Given the description of an element on the screen output the (x, y) to click on. 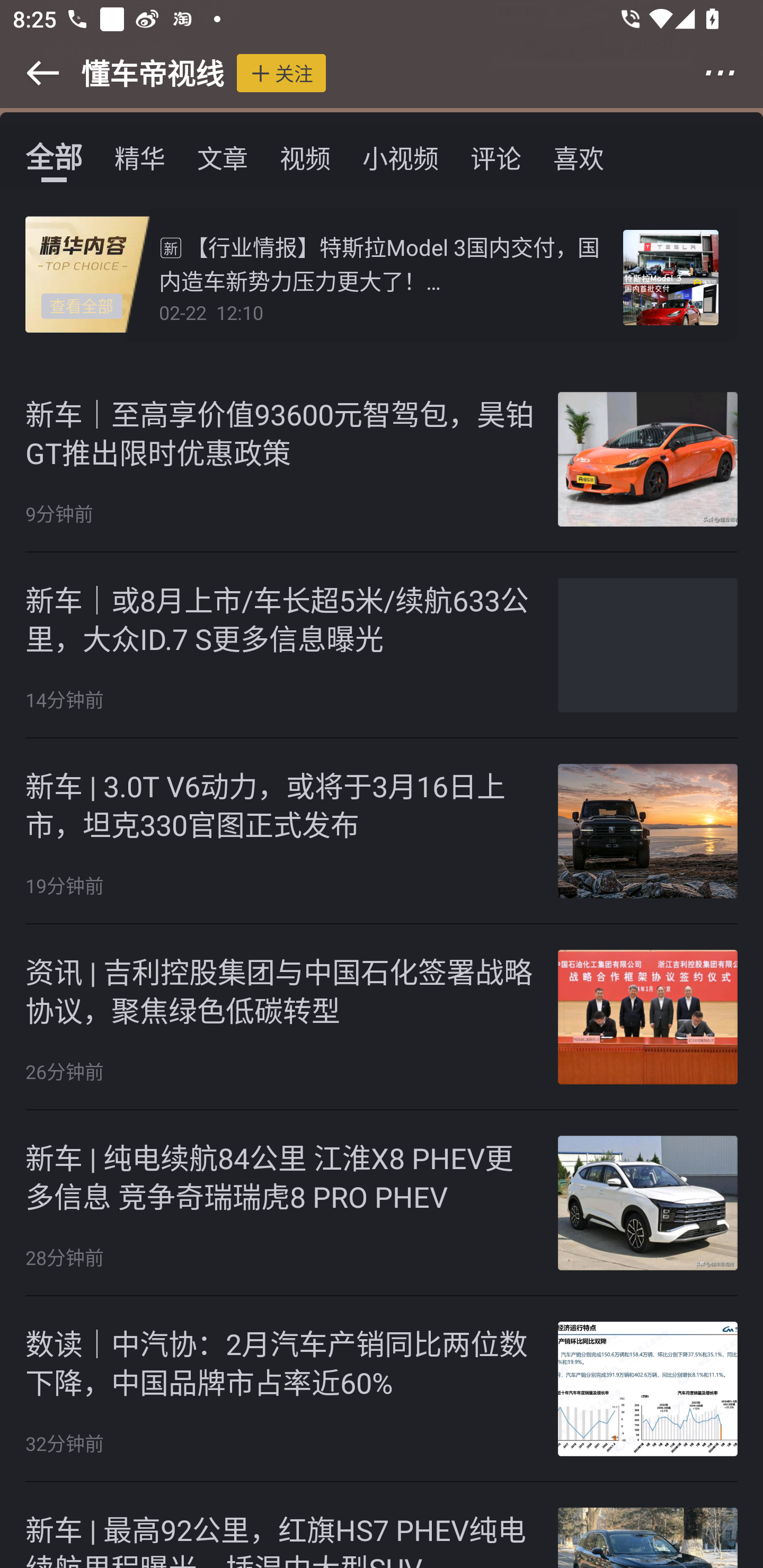
 (30, 72)
 (732, 72)
 关注 (280, 72)
全部 (53, 156)
精华 (139, 156)
文章 (221, 156)
视频 (305, 156)
小视频 (400, 156)
评论 (495, 156)
喜欢 (578, 156)
查看全部 (81, 305)
新车｜至高享价值93600元智驾包，昊铂GT推出限时优惠政策 9分钟前 (381, 458)
新车｜或8月上市/车长超5米/续航633公里，大众ID.7 S更多信息曝光 14分钟前 (381, 644)
新车 | 3.0T V6动力，或将于3月16日上市，坦克330官图正式发布 19分钟前 (381, 831)
资讯 | 吉利控股集团与中国石化签署战略协议，聚焦绿色低碳转型 26分钟前 (381, 1017)
新车 | 纯电续航84公里 江淮X8 PHEV更多信息 竞争奇瑞瑞虎8 PRO PHEV 28分钟前 (381, 1203)
数读｜中汽协：2月汽车产销同比两位数下降，中国品牌市占率近60% 32分钟前 (381, 1388)
